Given the description of an element on the screen output the (x, y) to click on. 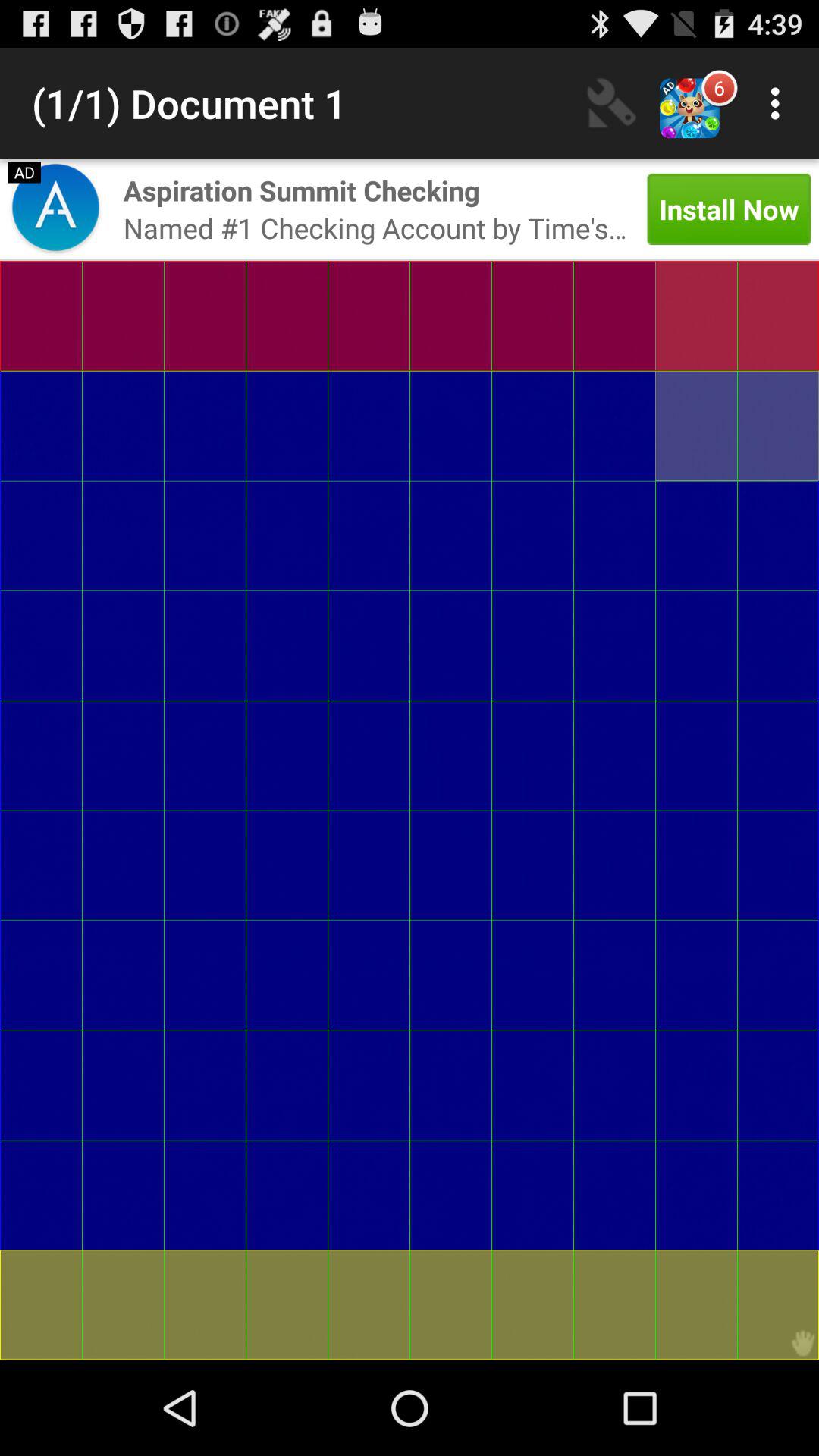
scroll to aspiration summit checking icon (301, 190)
